Given the description of an element on the screen output the (x, y) to click on. 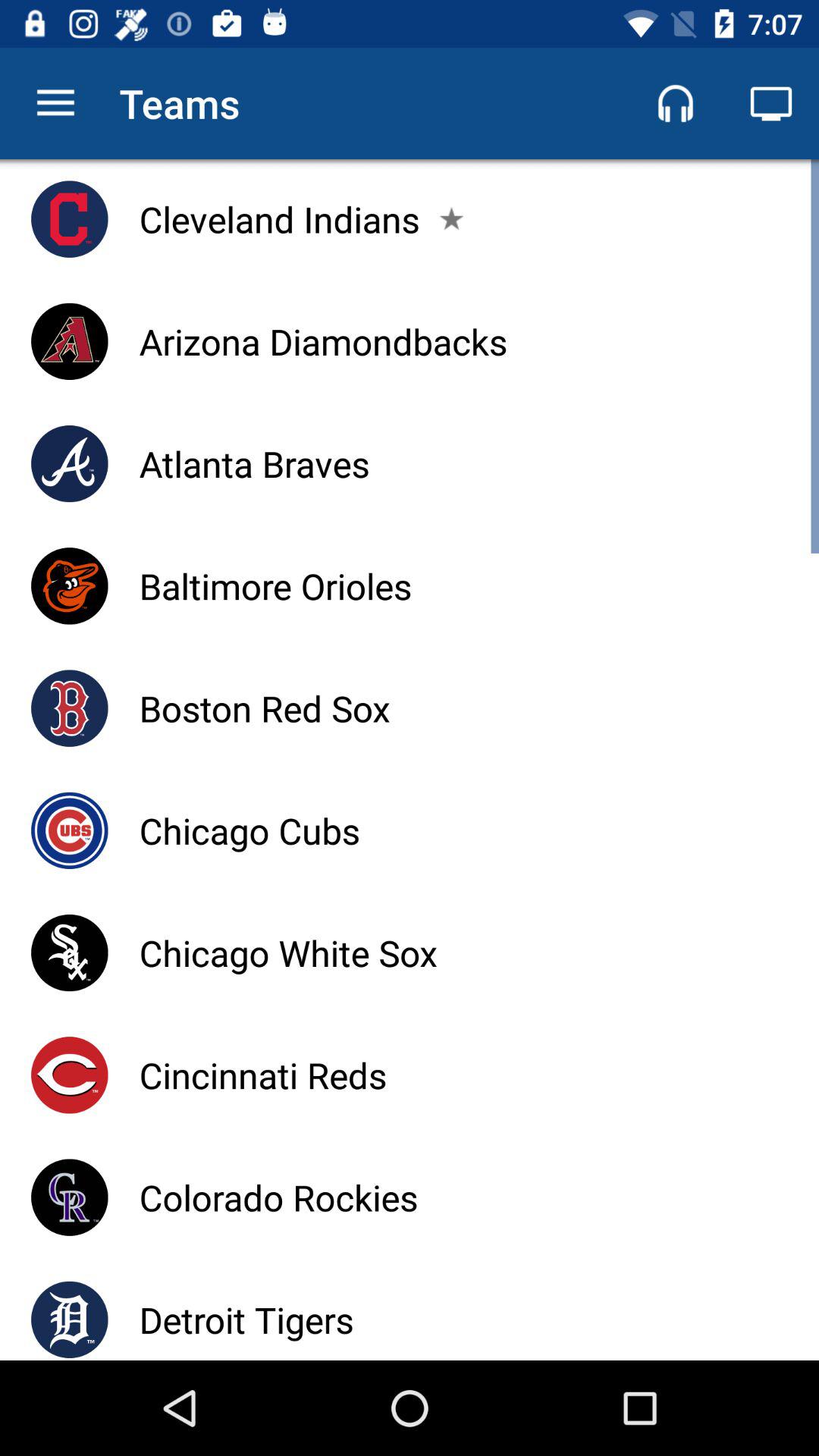
select item above chicago cubs item (264, 708)
